Given the description of an element on the screen output the (x, y) to click on. 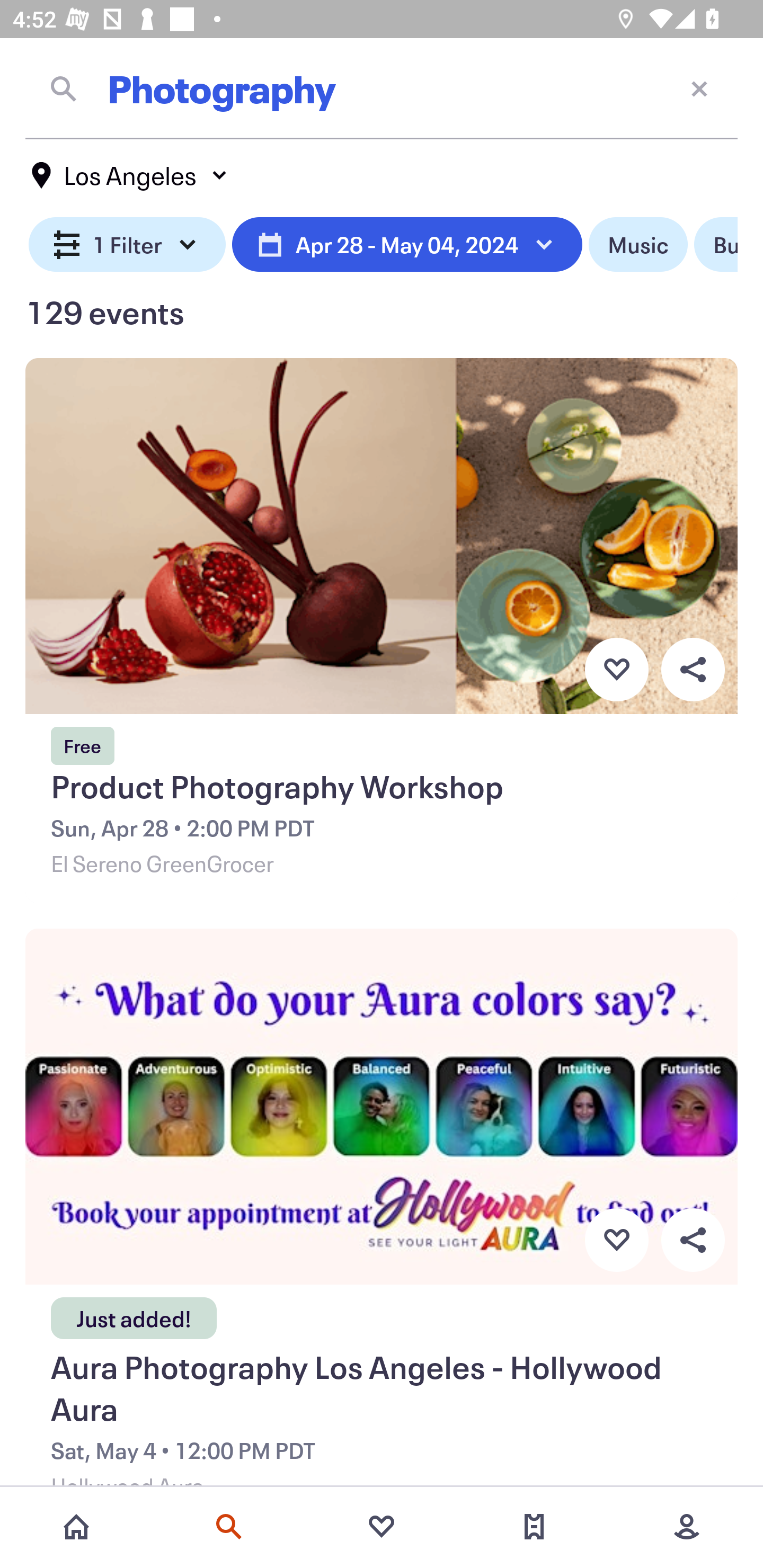
Photography Close current screen (381, 88)
Close current screen (699, 88)
Los Angeles (130, 175)
1 Filter (126, 244)
Apr 28 - May 04, 2024 (406, 244)
Music (638, 244)
Favorite button (616, 669)
Overflow menu button (692, 669)
Favorite button (616, 1239)
Overflow menu button (692, 1239)
Just added! (133, 1313)
Home (76, 1526)
Search events (228, 1526)
Favorites (381, 1526)
Tickets (533, 1526)
More (686, 1526)
